Given the description of an element on the screen output the (x, y) to click on. 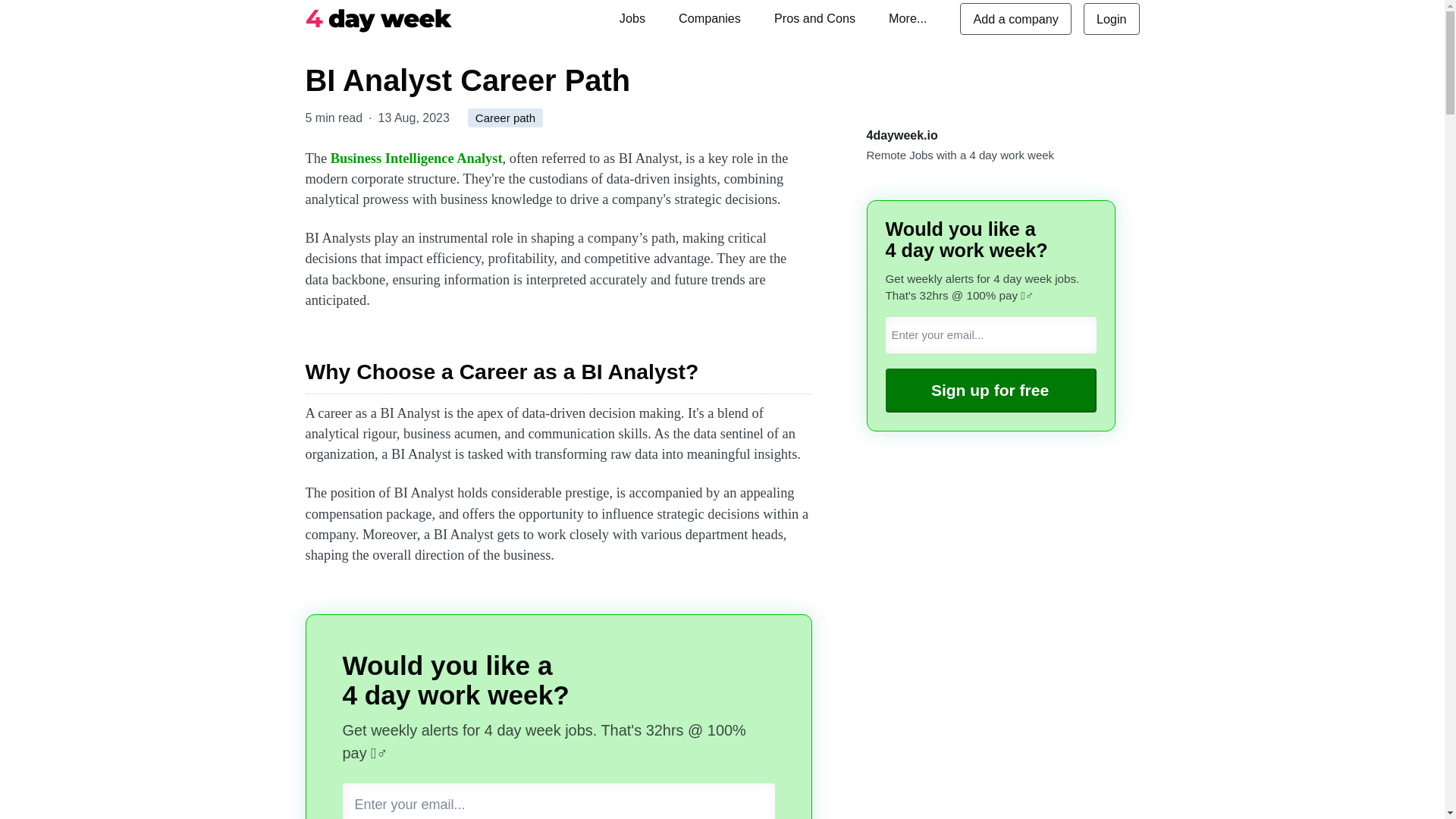
More... (907, 18)
Jobs (632, 18)
Companies (709, 18)
Pros and Cons (814, 18)
